Given the description of an element on the screen output the (x, y) to click on. 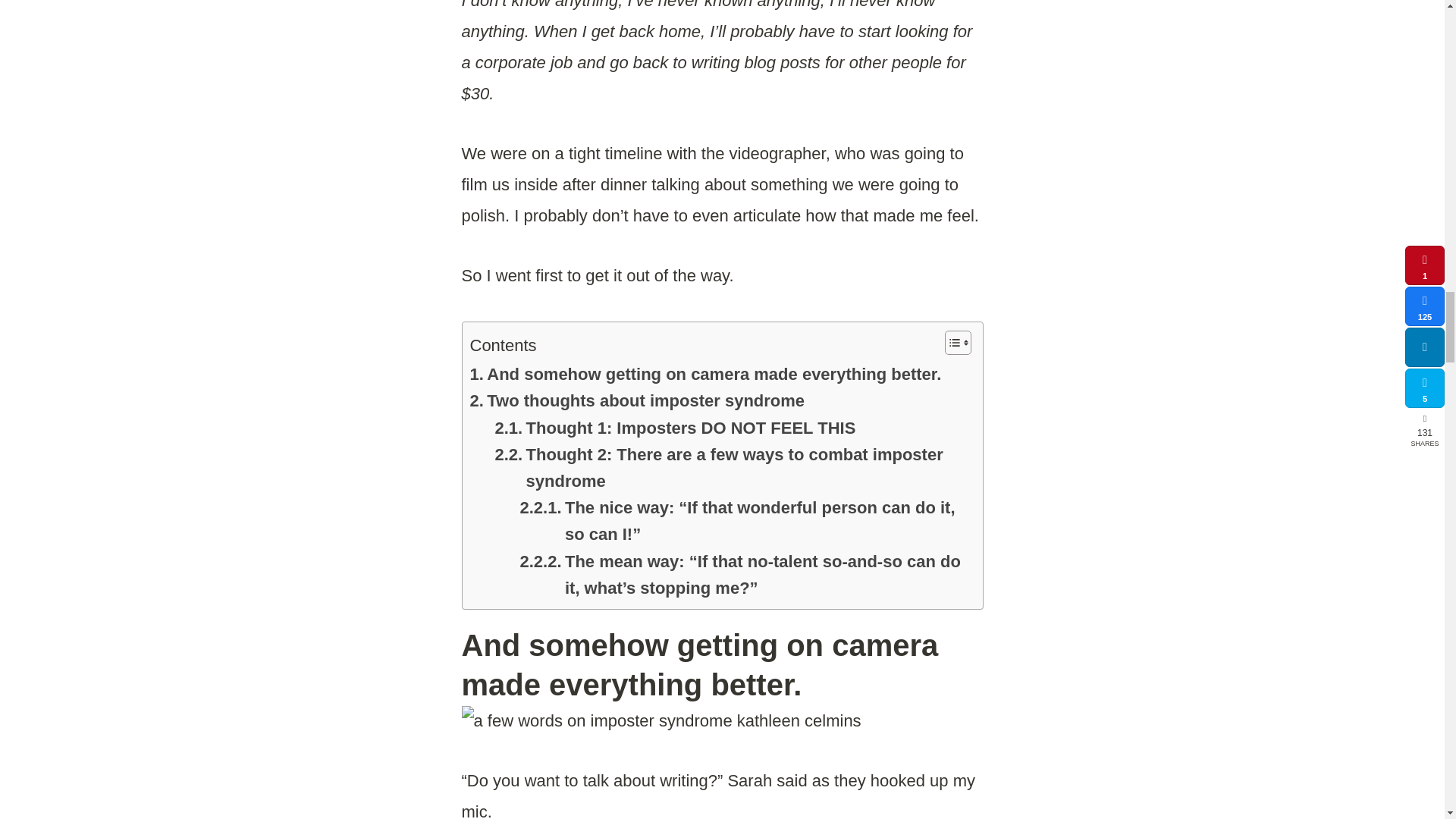
And somehow getting on camera made everything better. (706, 374)
Thought 2: There are a few ways to combat imposter syndrome (730, 467)
Thought 2: There are a few ways to combat imposter syndrome (730, 467)
Thought 1: Imposters DO NOT FEEL THIS (675, 427)
And somehow getting on camera made everything better. (706, 374)
Two thoughts about imposter syndrome (637, 400)
Thought 1: Imposters DO NOT FEEL THIS (675, 427)
Two thoughts about imposter syndrome (637, 400)
